Given the description of an element on the screen output the (x, y) to click on. 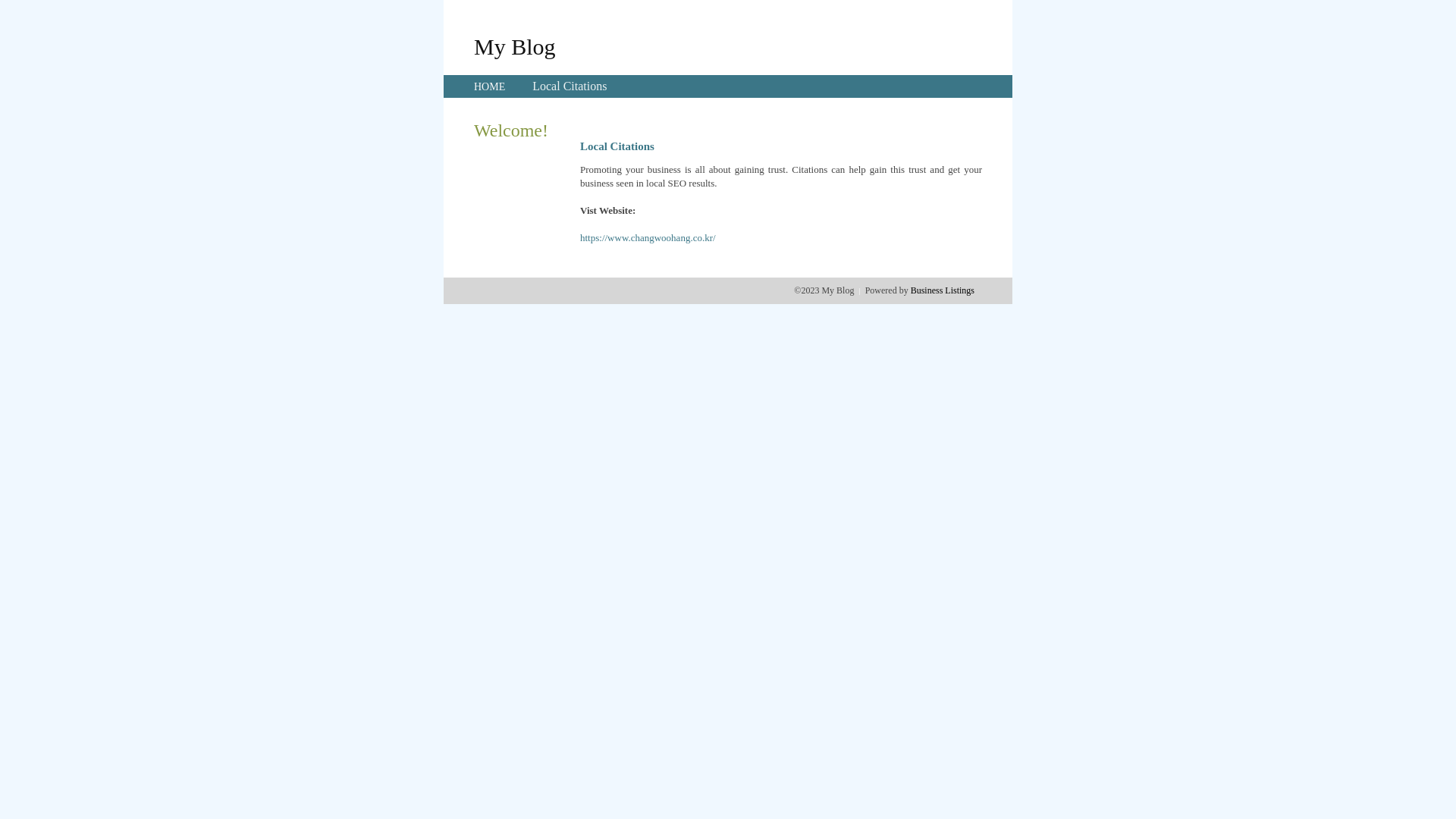
Business Listings Element type: text (942, 290)
https://www.changwoohang.co.kr/ Element type: text (647, 237)
My Blog Element type: text (514, 46)
Local Citations Element type: text (569, 85)
HOME Element type: text (489, 86)
